Given the description of an element on the screen output the (x, y) to click on. 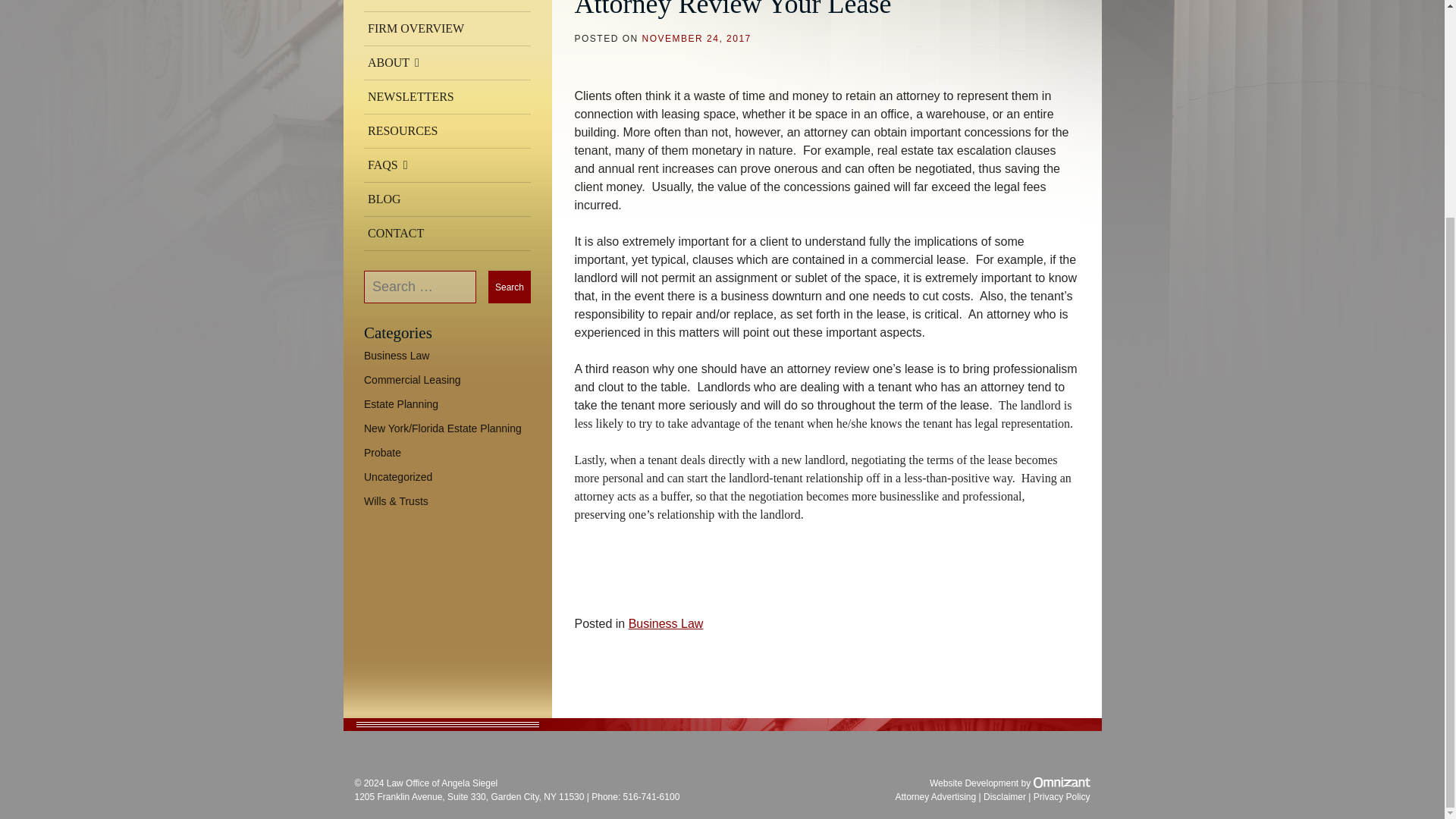
NEWSLETTERS (447, 97)
Search for: (420, 287)
Estate Planning (401, 404)
Probate (382, 452)
BLOG (447, 199)
ABOUT (447, 62)
PRACTICE AREAS (447, 6)
Search (509, 287)
RESOURCES (447, 131)
Search (509, 287)
Business Law (665, 623)
CONTACT (447, 233)
516-741-6100 (651, 796)
Commercial Leasing (412, 379)
Business Law (396, 355)
